Given the description of an element on the screen output the (x, y) to click on. 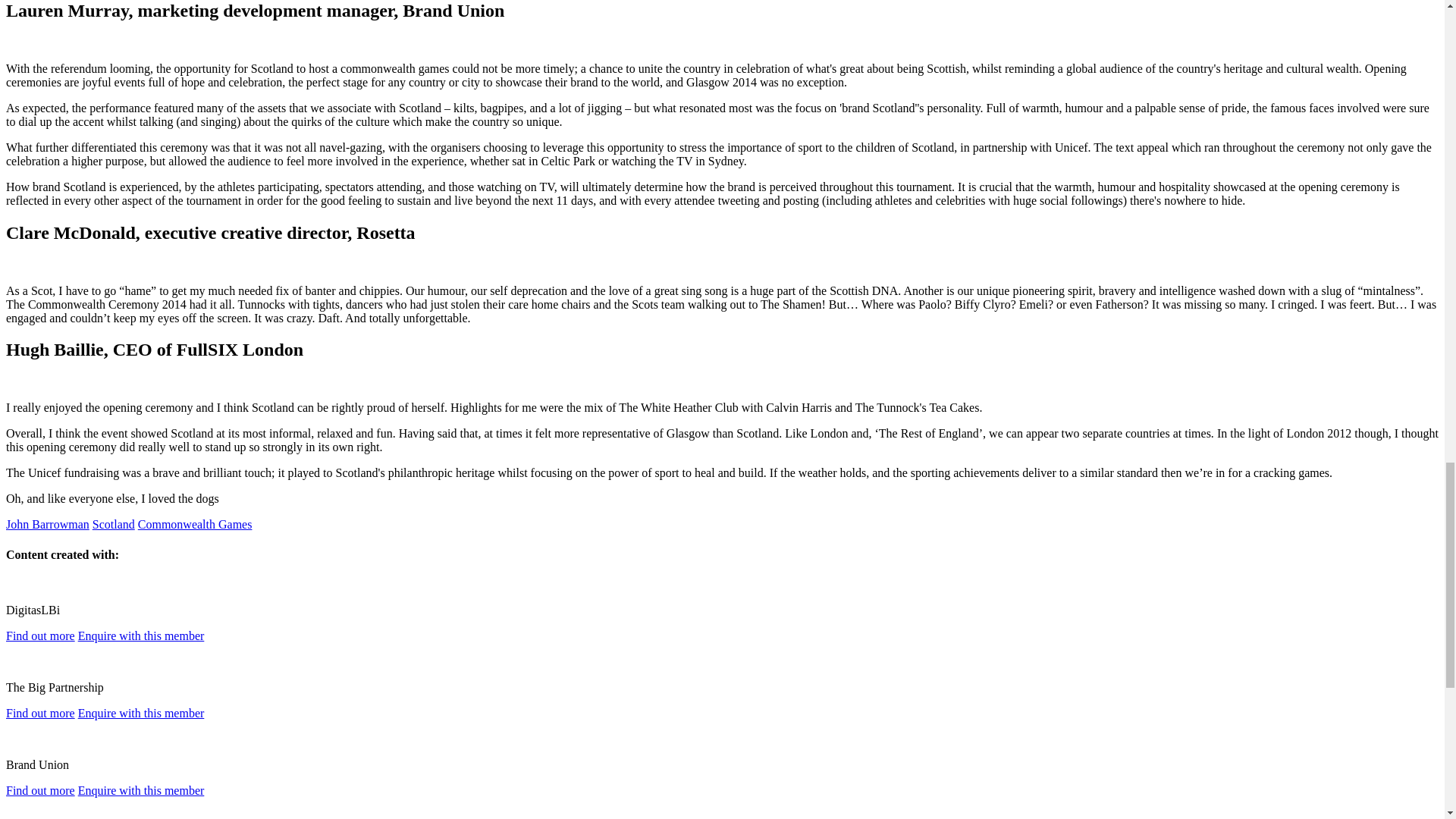
Find out more (40, 789)
John Barrowman (46, 523)
Enquire with this member (141, 789)
Enquire with this member (141, 635)
Find out more (40, 635)
Find out more (40, 712)
Enquire with this member (141, 712)
Scotland (114, 523)
Commonwealth Games (194, 523)
